Given the description of an element on the screen output the (x, y) to click on. 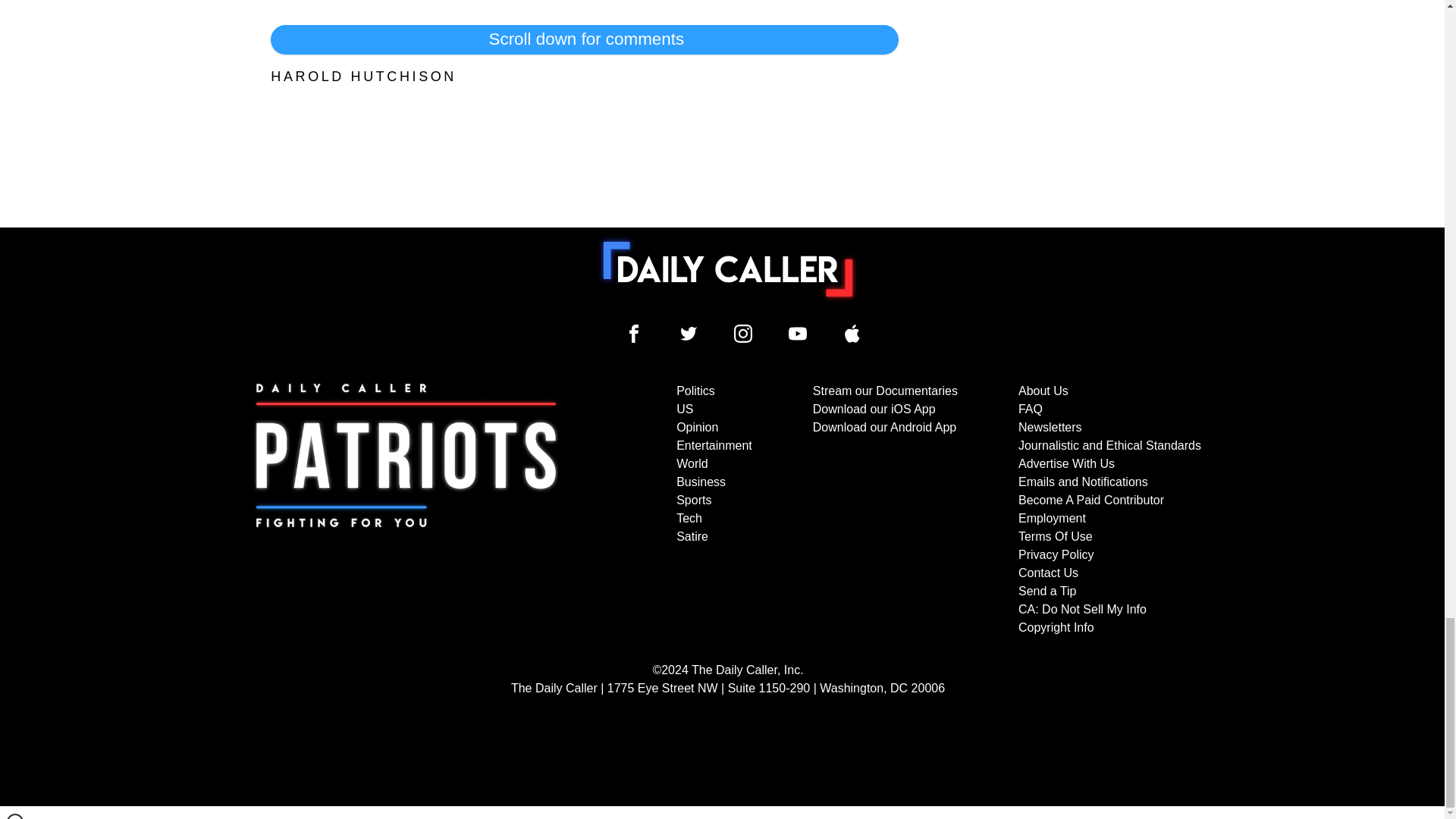
Daily Caller Facebook (633, 333)
Scroll down for comments (584, 39)
Subscribe to The Daily Caller (405, 509)
To home page (727, 268)
Daily Caller Instagram (742, 333)
Daily Caller YouTube (797, 333)
Daily Caller Twitter (688, 333)
Daily Caller YouTube (852, 333)
